Given the description of an element on the screen output the (x, y) to click on. 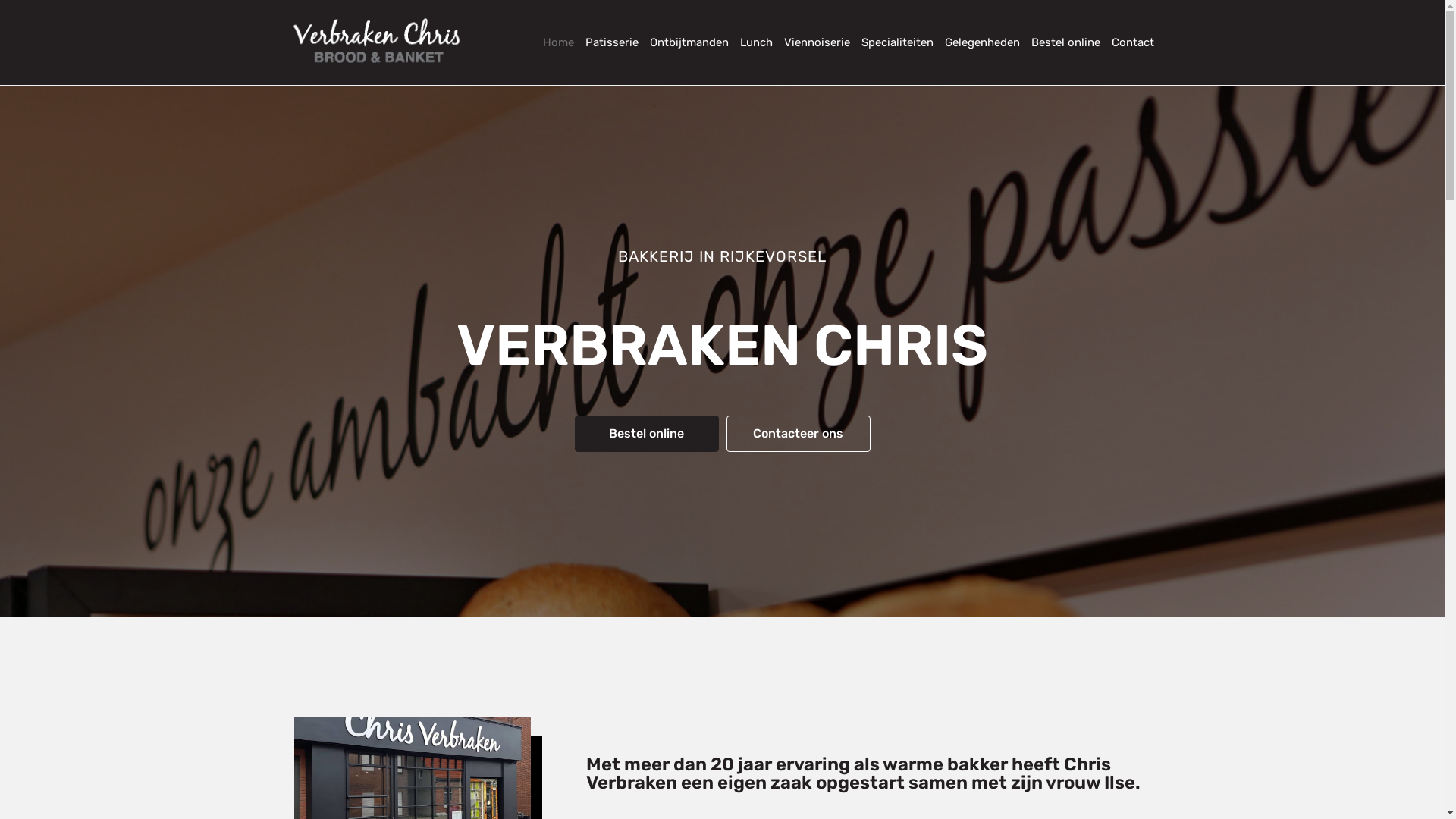
Lunch Element type: text (750, 42)
Contacteer ons Element type: text (798, 433)
Specialiteiten Element type: text (891, 42)
Patisserie Element type: text (606, 42)
Home Element type: text (552, 42)
Contact Element type: text (1127, 42)
Bestel online Element type: text (646, 433)
Viennoiserie Element type: text (811, 42)
Gelegenheden Element type: text (976, 42)
Ontbijtmanden Element type: text (683, 42)
Bestel online Element type: text (1059, 42)
